Given the description of an element on the screen output the (x, y) to click on. 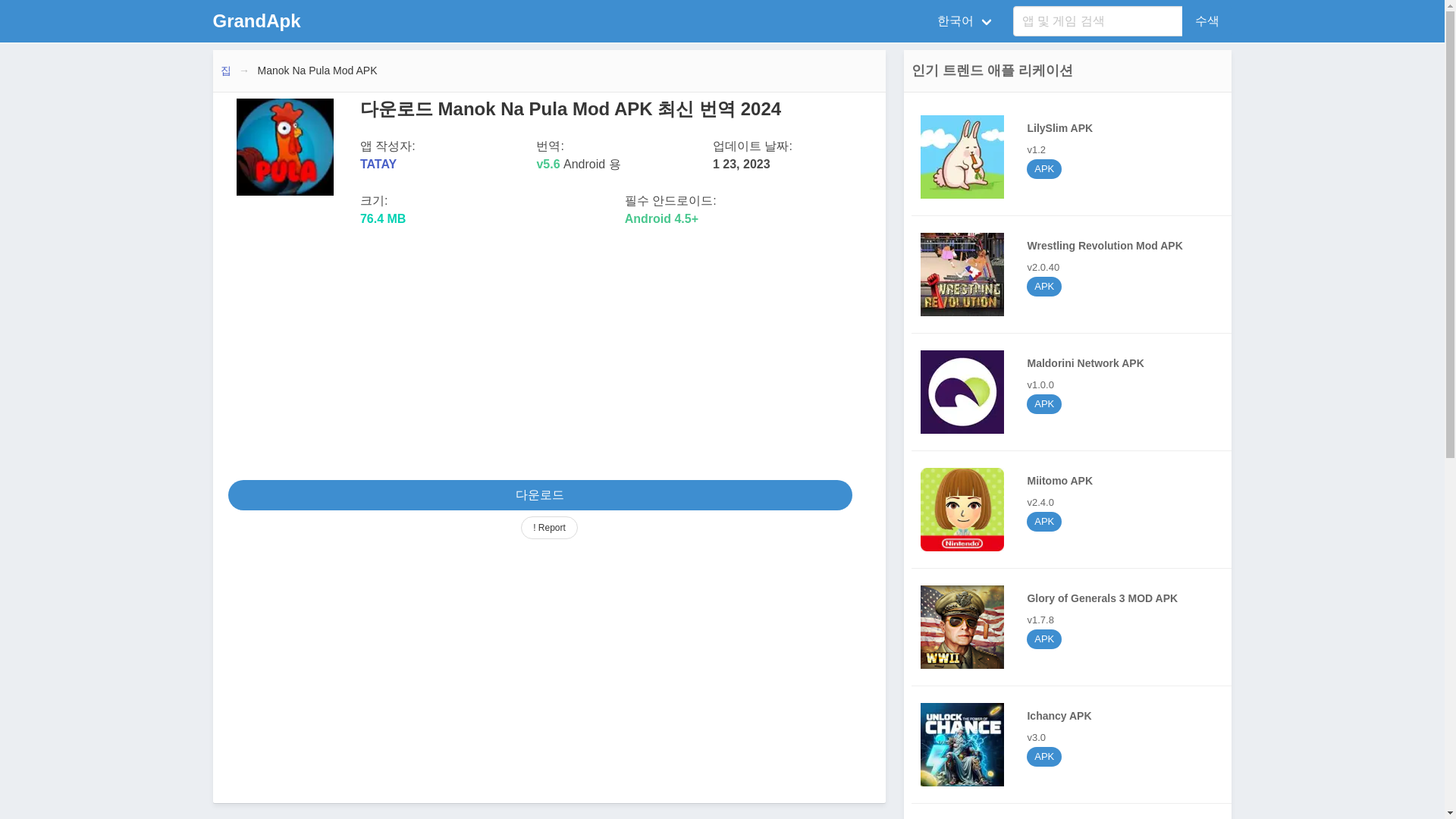
Wrestling Revolution Mod APK (962, 274)
Report Problem for this APP (549, 527)
Advertisement (1075, 816)
GrandApk (1075, 274)
FCM 25 Mod APK (1075, 274)
Glory of Generals 3 MOD APK (255, 21)
TATAY (1075, 816)
Miitomo APK (1075, 156)
